Given the description of an element on the screen output the (x, y) to click on. 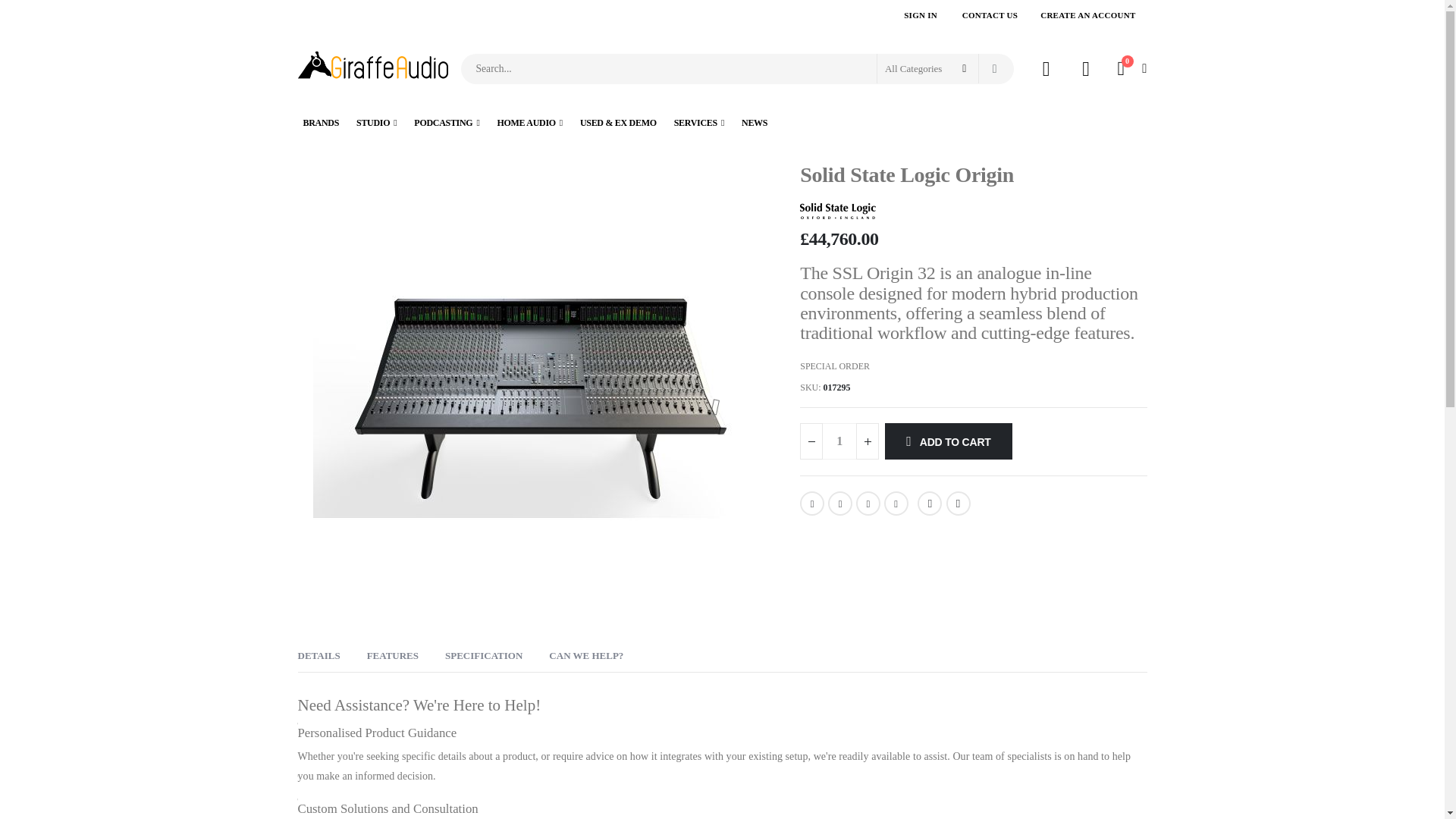
SIGN IN (920, 14)
CREATE AN ACCOUNT (1088, 14)
Giraffe Audio (372, 68)
SERVICES (698, 122)
Wishlist (1087, 68)
PODCASTING (446, 122)
Studio (375, 122)
HOME AUDIO (529, 122)
CONTACT US (989, 14)
Search (993, 69)
